Given the description of an element on the screen output the (x, y) to click on. 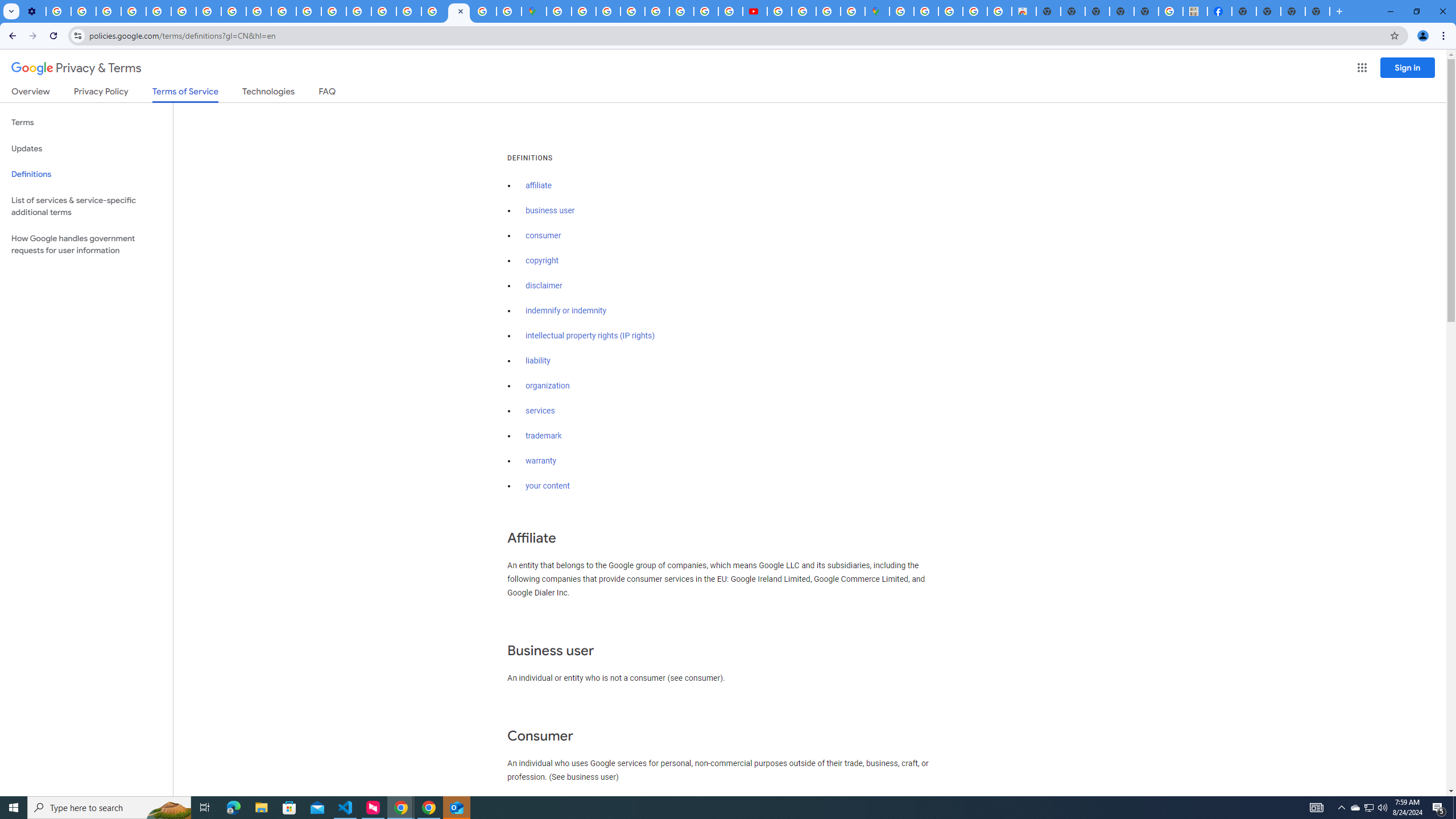
Delete photos & videos - Computer - Google Photos Help (57, 11)
warranty (540, 461)
your content (547, 486)
affiliate (538, 185)
Sign in - Google Accounts (583, 11)
Privacy Checkup (283, 11)
